Given the description of an element on the screen output the (x, y) to click on. 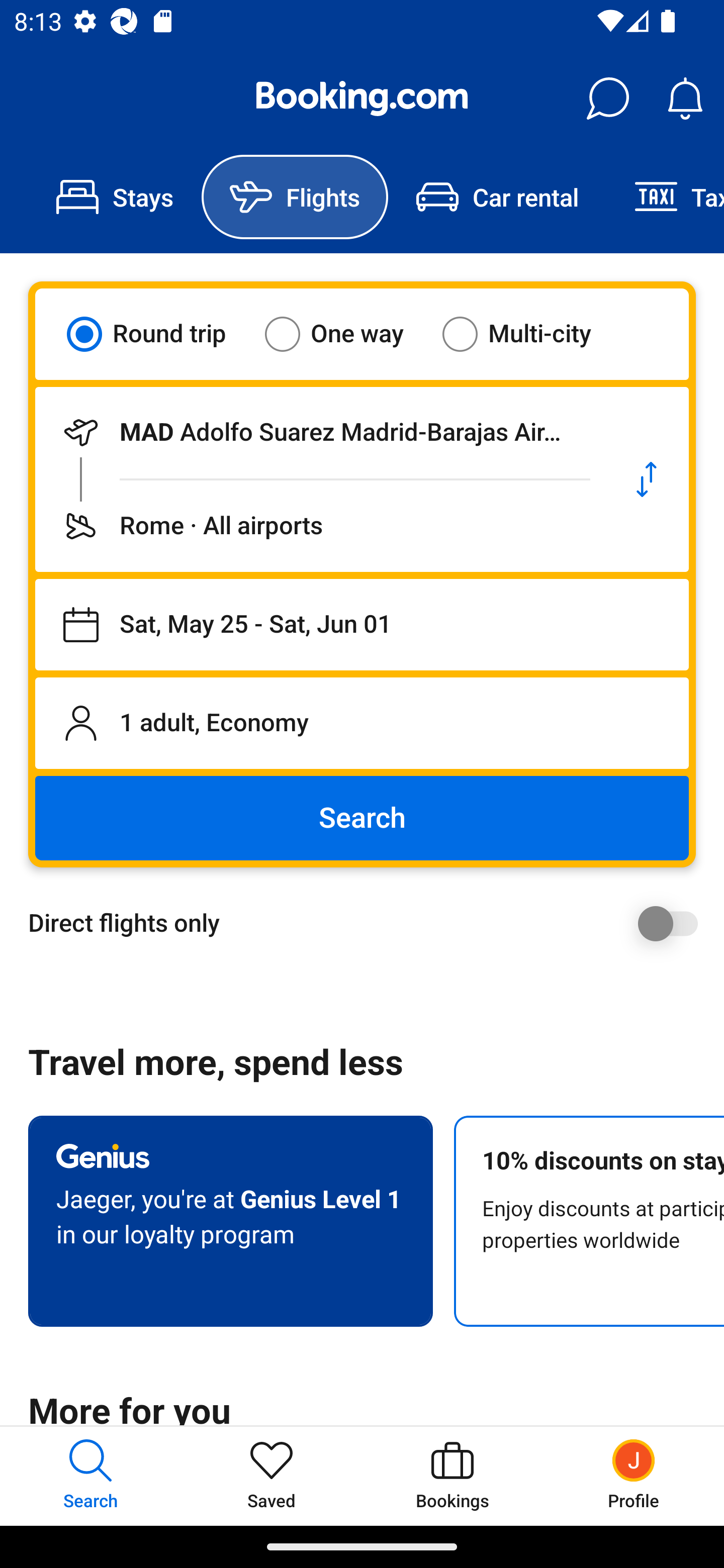
Messages (607, 98)
Notifications (685, 98)
Stays (114, 197)
Flights (294, 197)
Car rental (497, 197)
Taxi (665, 197)
One way (346, 333)
Multi-city (528, 333)
Swap departure location and destination (646, 479)
Flying to Rome · All airports (319, 525)
Departing on Sat, May 25, returning on Sat, Jun 01 (361, 624)
1 adult, Economy (361, 722)
Search (361, 818)
Direct flights only (369, 923)
Saved (271, 1475)
Bookings (452, 1475)
Profile (633, 1475)
